Given the description of an element on the screen output the (x, y) to click on. 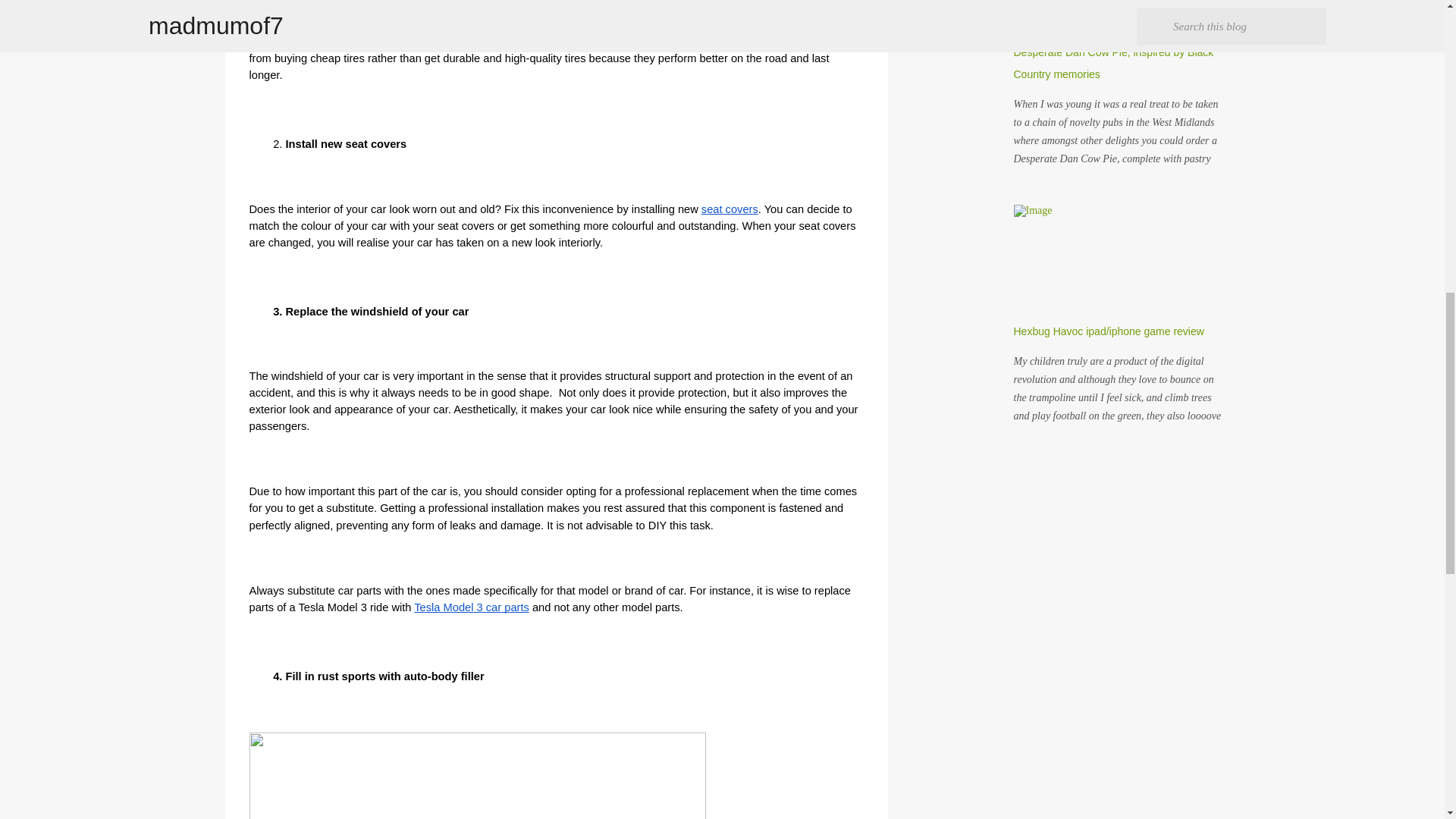
Desperate Dan Cow Pie, inspired by Black Country memories (1112, 62)
seat covers (729, 208)
Tesla Model 3 car parts (471, 606)
